Given the description of an element on the screen output the (x, y) to click on. 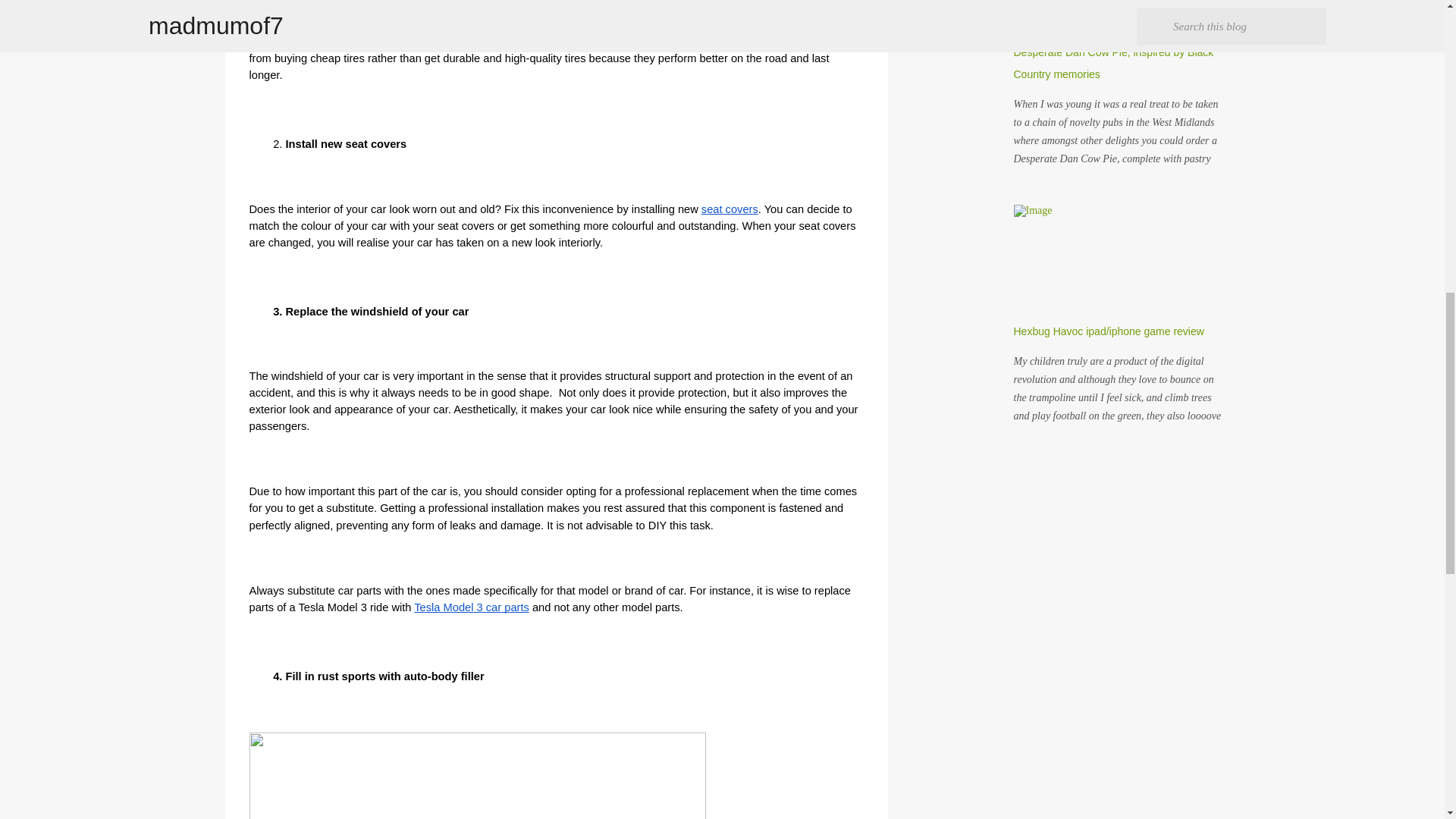
Desperate Dan Cow Pie, inspired by Black Country memories (1112, 62)
seat covers (729, 208)
Tesla Model 3 car parts (471, 606)
